Given the description of an element on the screen output the (x, y) to click on. 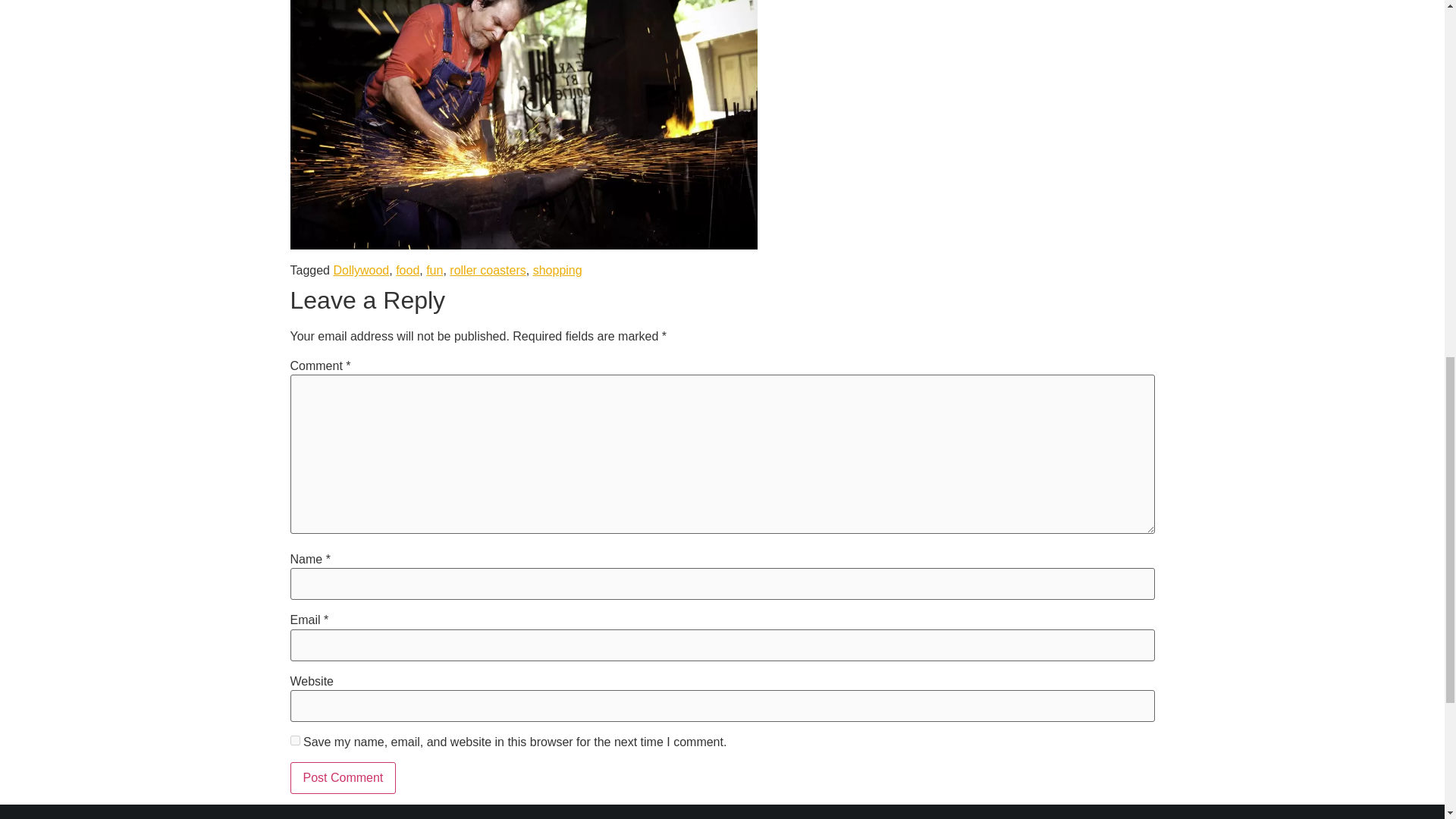
yes (294, 740)
fun (434, 269)
roller coasters (487, 269)
Post Comment (342, 777)
Dollywood (360, 269)
shopping (557, 269)
Post Comment (342, 777)
food (407, 269)
